Given the description of an element on the screen output the (x, y) to click on. 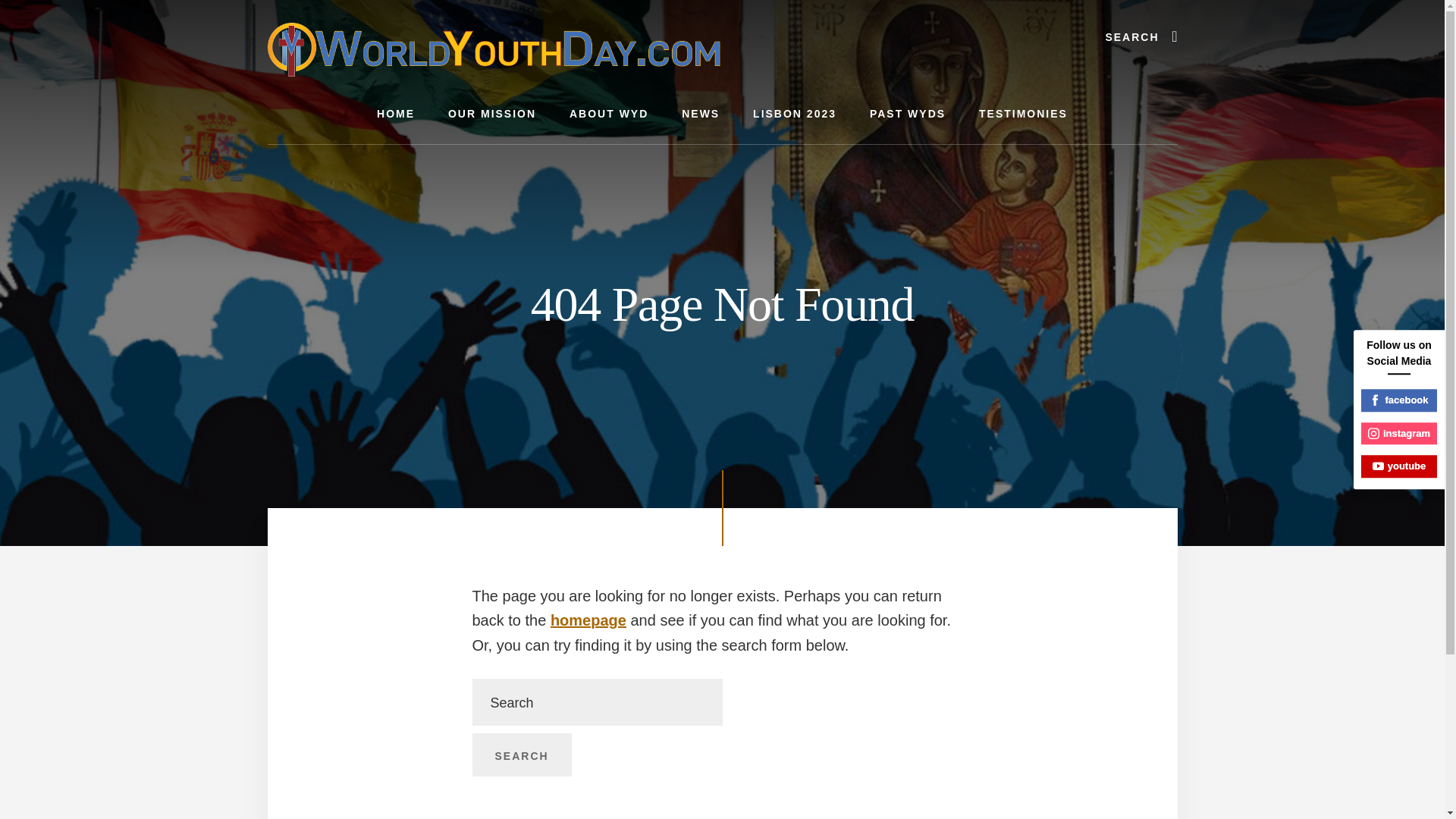
Search (520, 755)
PAST WYDS (907, 114)
Search (520, 755)
ABOUT WYD (608, 114)
youtube (1399, 466)
facebook (1399, 400)
instagram (1399, 433)
HOME (395, 114)
Search (520, 755)
OUR MISSION (491, 114)
homepage (588, 619)
LISBON 2023 (794, 114)
